Given the description of an element on the screen output the (x, y) to click on. 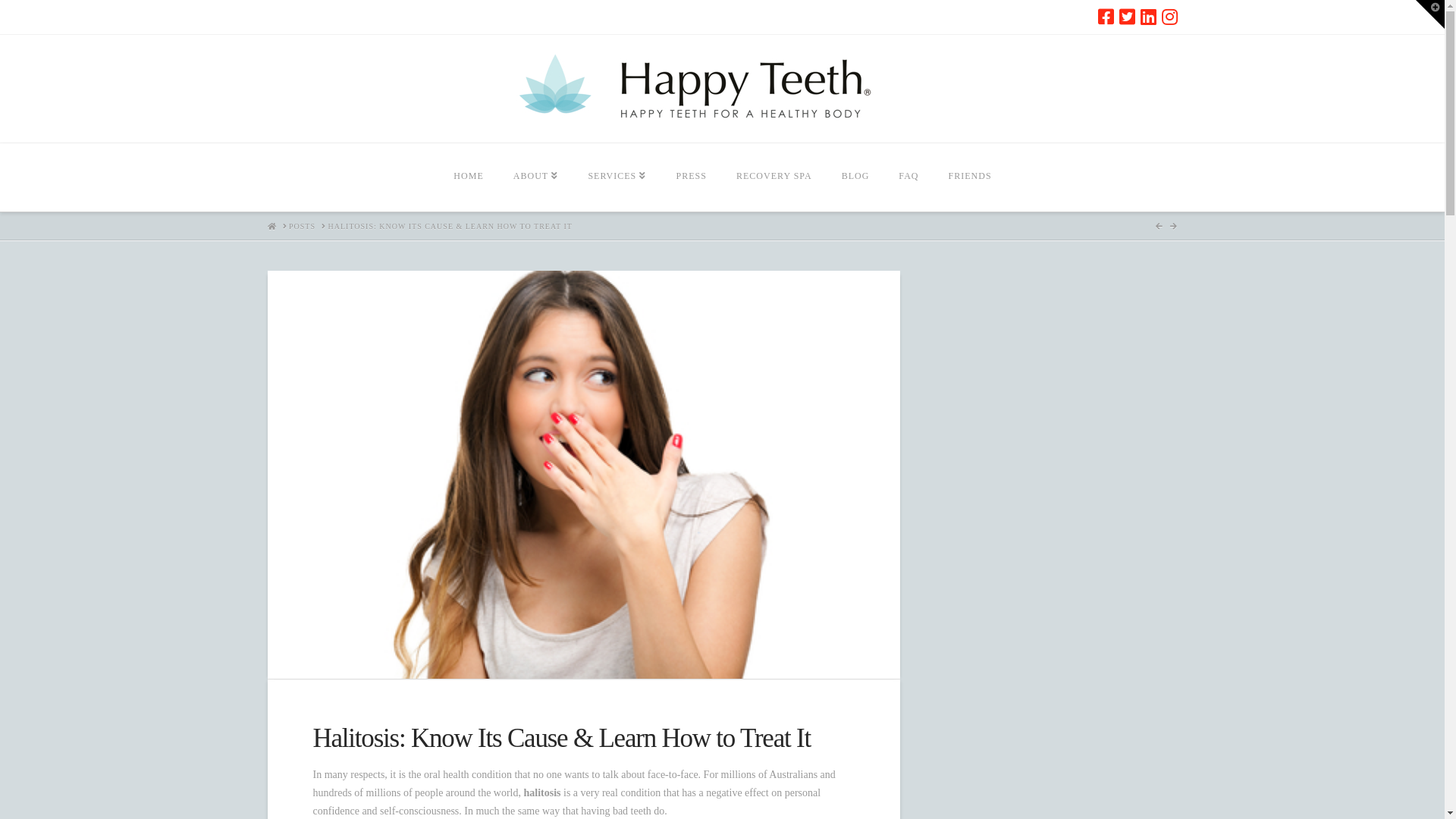
ABOUT Element type: text (535, 177)
HOME Element type: text (467, 177)
Twitter Element type: hover (1127, 16)
POSTS Element type: text (301, 226)
FAQ Element type: text (907, 177)
Facebook Element type: hover (1105, 16)
BLOG Element type: text (855, 177)
HOME Element type: text (271, 225)
Toggle the Widgetbar Element type: text (1429, 14)
RECOVERY SPA Element type: text (773, 177)
SERVICES Element type: text (616, 177)
FRIENDS Element type: text (969, 177)
Instagram Element type: hover (1169, 16)
LinkedIn Element type: hover (1148, 16)
HALITOSIS: KNOW ITS CAUSE & LEARN HOW TO TREAT IT Element type: text (450, 226)
PRESS Element type: text (690, 177)
